Given the description of an element on the screen output the (x, y) to click on. 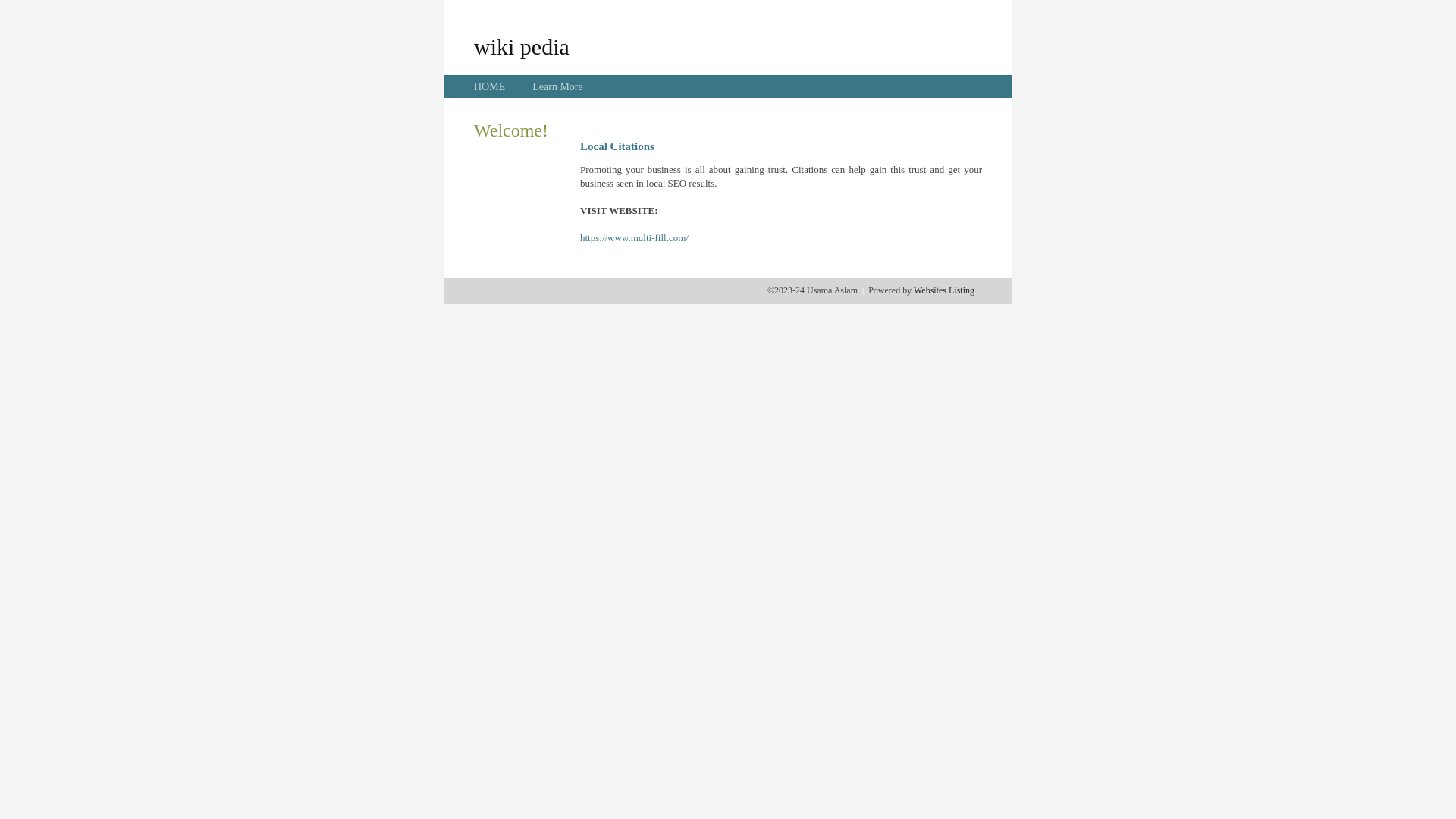
HOME Element type: text (489, 86)
https://www.multi-fill.com/ Element type: text (634, 237)
wiki pedia Element type: text (521, 46)
Learn More Element type: text (557, 86)
Websites Listing Element type: text (943, 290)
